Given the description of an element on the screen output the (x, y) to click on. 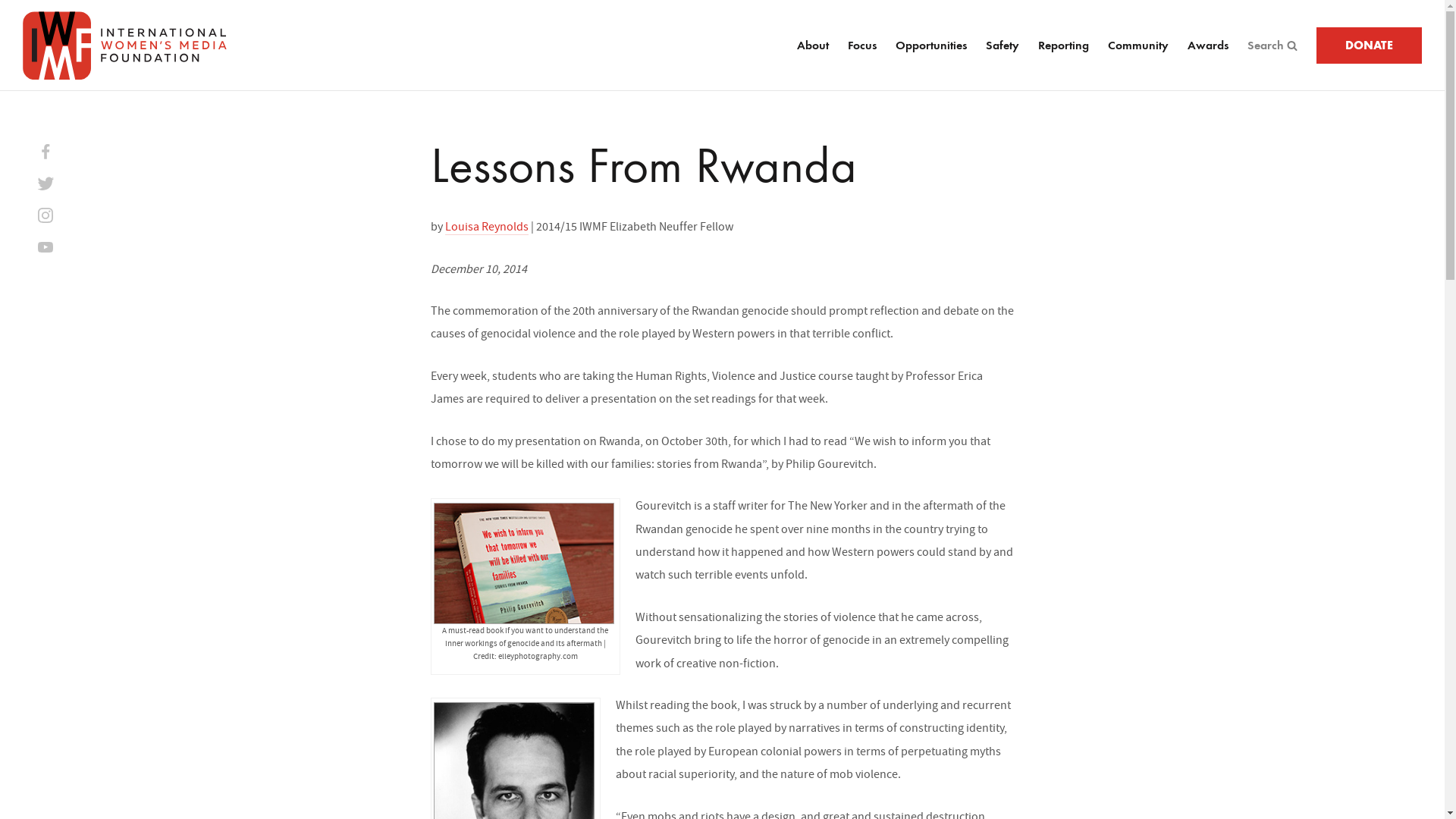
Safety (1002, 45)
Opportunities (930, 45)
